Given the description of an element on the screen output the (x, y) to click on. 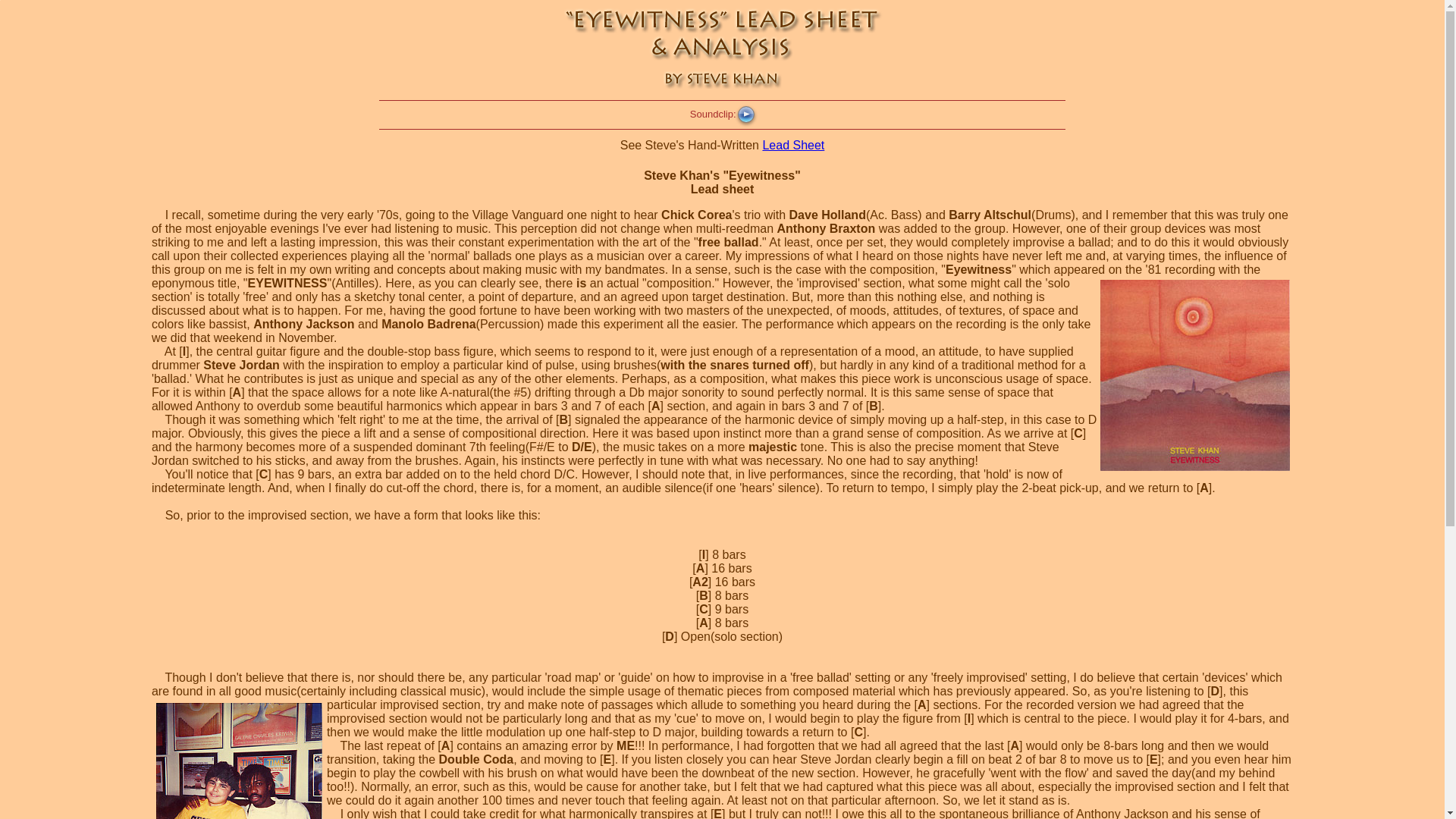
Lead Sheet (792, 144)
